Given the description of an element on the screen output the (x, y) to click on. 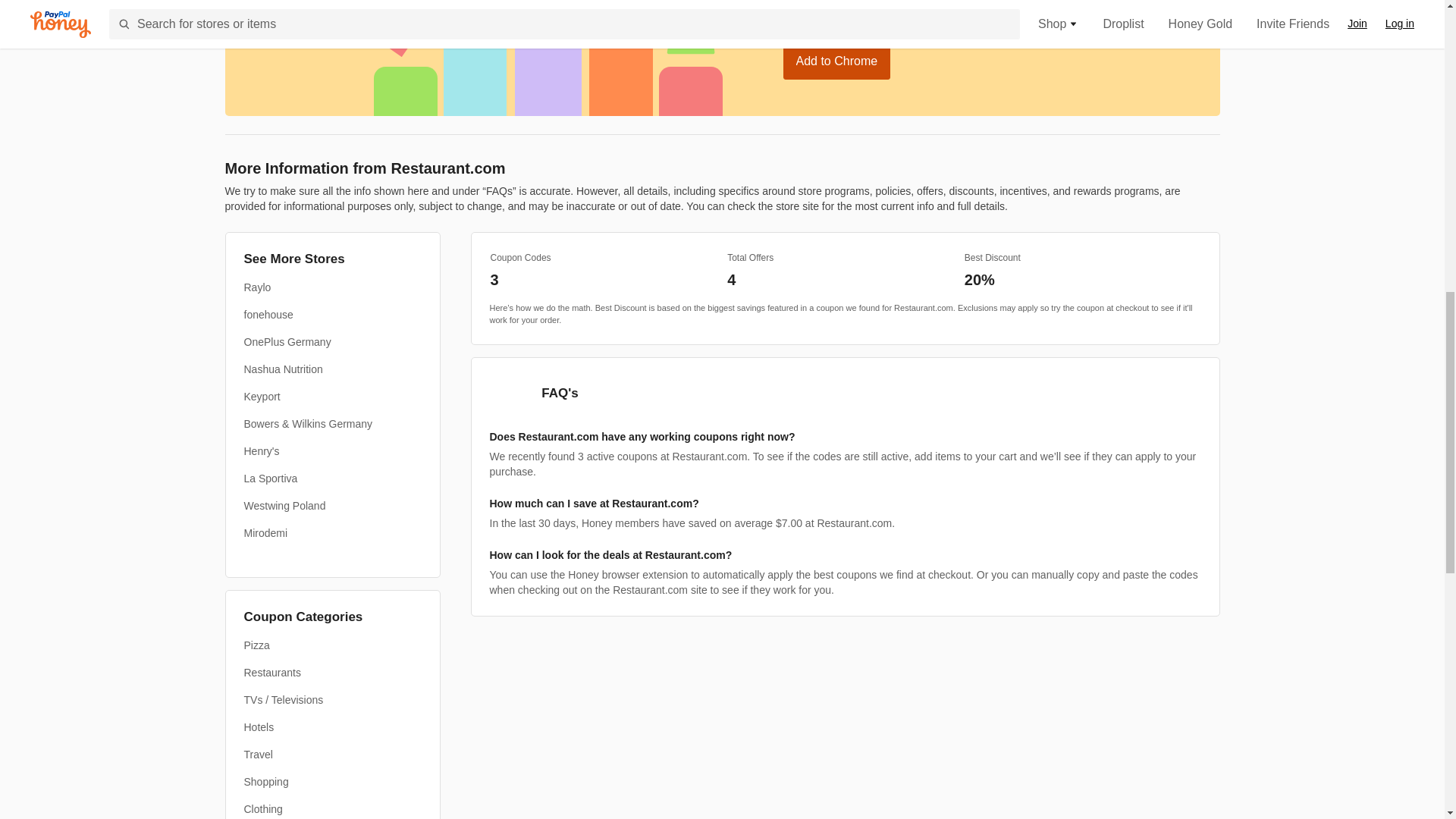
Pizza (256, 645)
Clothing (263, 808)
Henry's (261, 450)
La Sportiva (271, 478)
Nashua Nutrition (283, 368)
Travel (258, 754)
Raylo (257, 287)
Add to Chrome (836, 61)
Westwing Poland (285, 505)
Keyport (262, 396)
Hotels (259, 726)
Mirodemi (266, 532)
Shopping (266, 781)
Restaurants (272, 672)
fonehouse (269, 314)
